Given the description of an element on the screen output the (x, y) to click on. 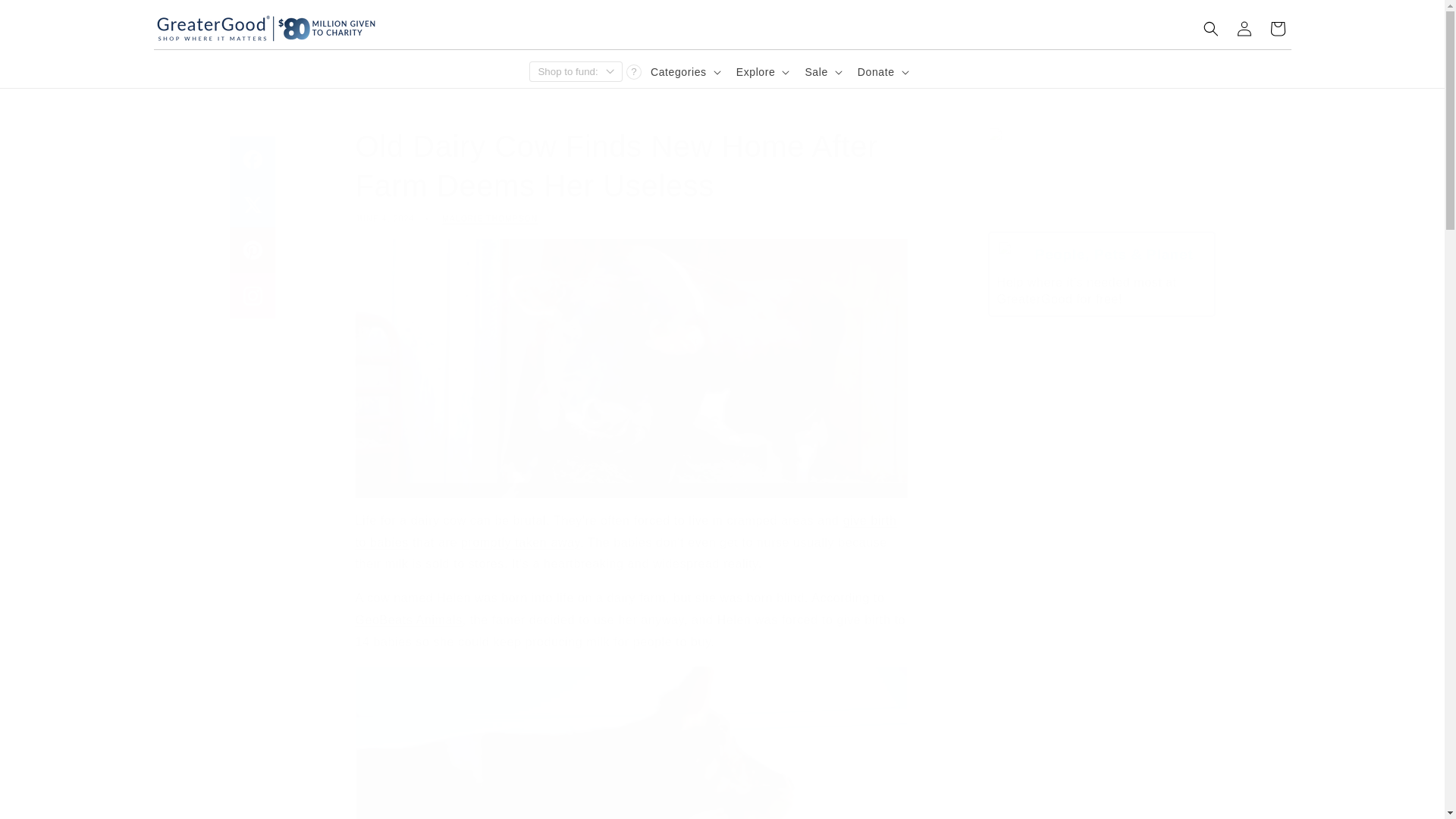
Share on Facebook (251, 158)
Skip to content (45, 17)
Share on Pinterest (251, 249)
Share on X (251, 204)
Share on Instagram (251, 295)
